Given the description of an element on the screen output the (x, y) to click on. 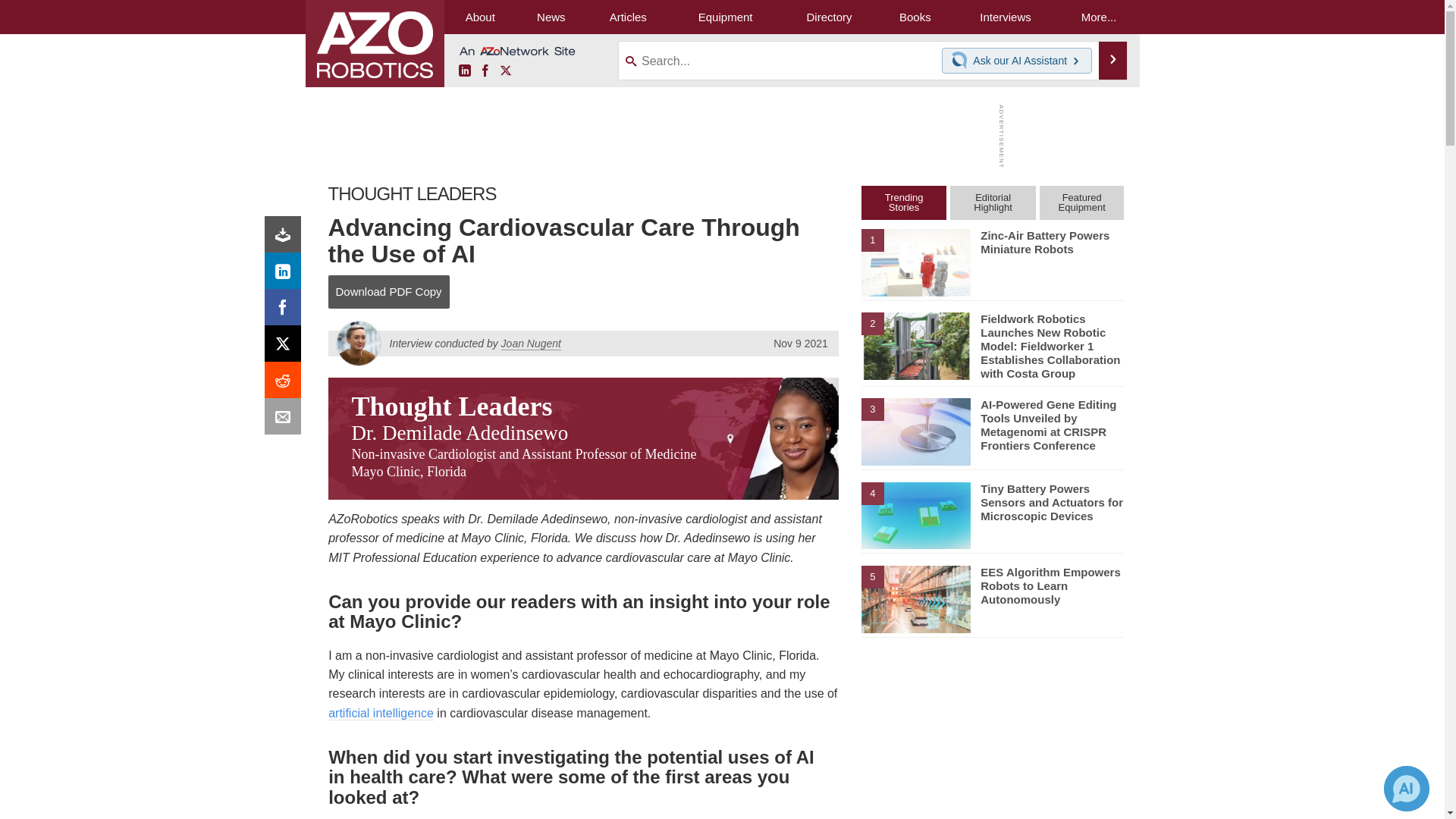
About (480, 17)
X (285, 348)
Download PDF copy (285, 238)
News (551, 17)
Facebook (285, 311)
Chat with our AI Assistant Ask our AI Assistant (1017, 60)
Directory (828, 17)
X (505, 71)
LinkedIn (464, 71)
Equipment (724, 17)
